Given the description of an element on the screen output the (x, y) to click on. 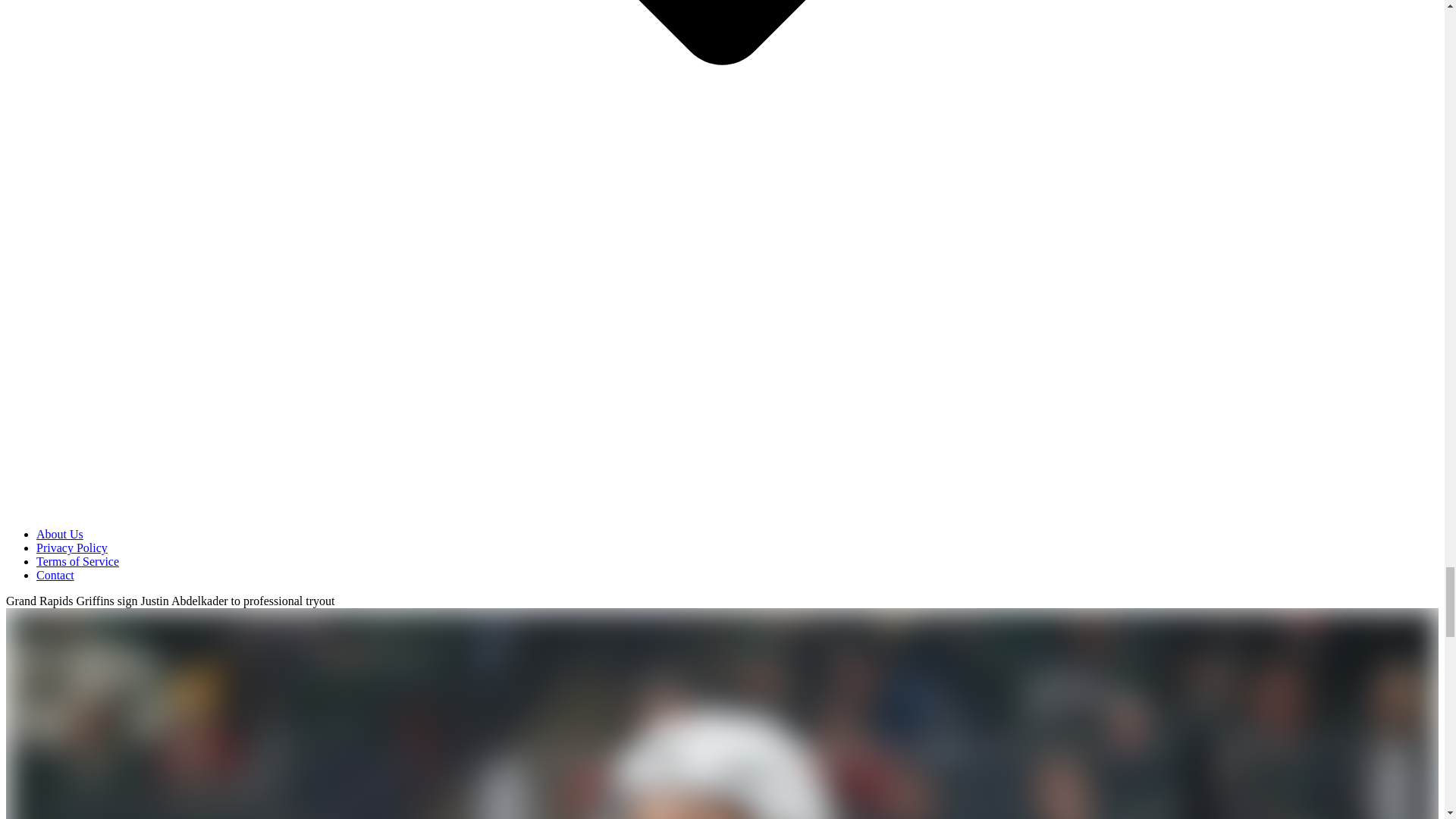
About Us (59, 533)
Terms of Service (77, 561)
Contact (55, 574)
Privacy Policy (71, 547)
